Given the description of an element on the screen output the (x, y) to click on. 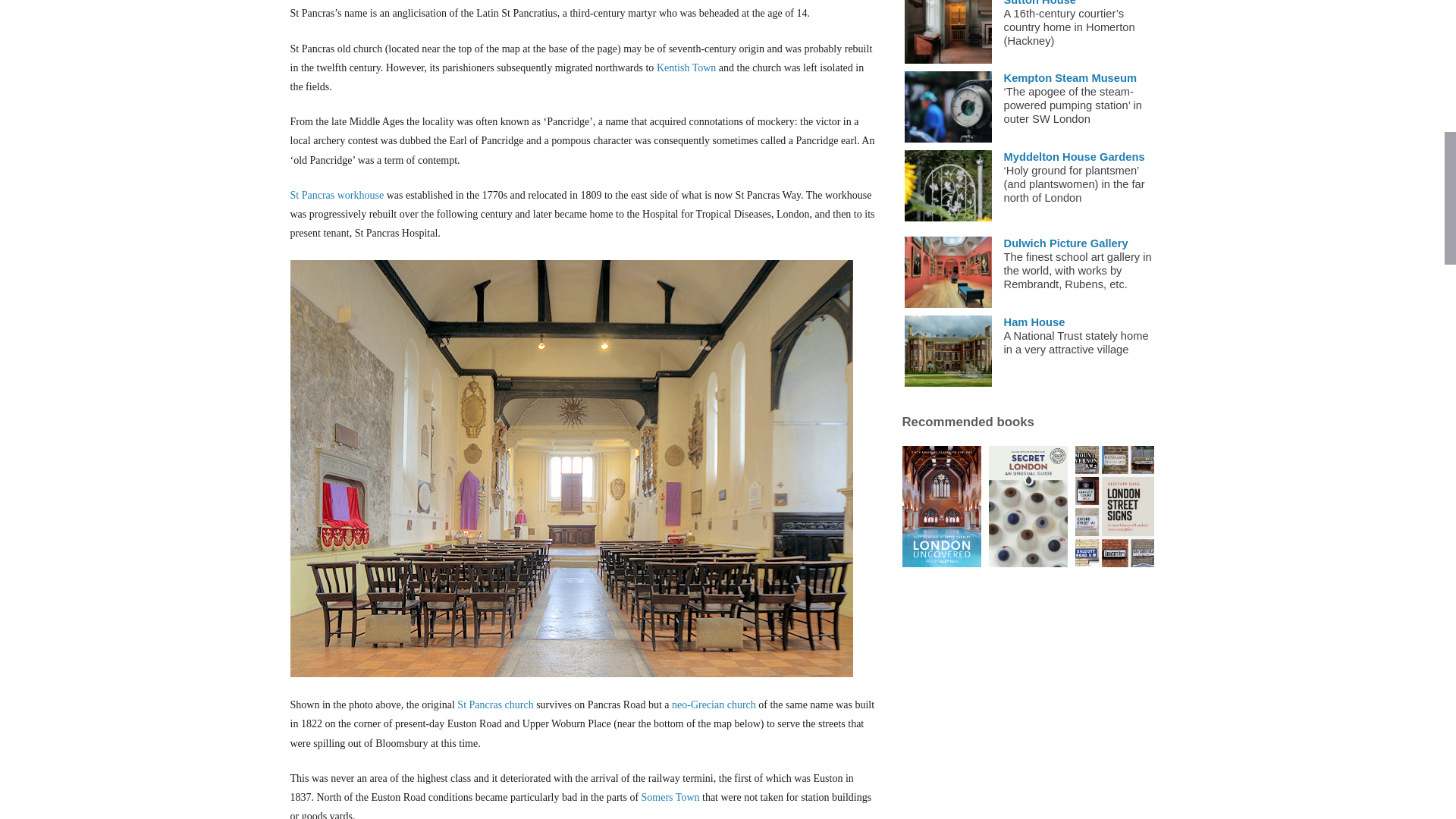
Kentish Town (686, 67)
St Pancras workhouse (336, 194)
Somers Town (671, 797)
St Pancras Old Church (494, 704)
neo-Grecian church (713, 704)
St Pancras church (494, 704)
Somers Town (671, 797)
Kentish Town (686, 67)
Sutton House (1039, 2)
St Pancras Church (713, 704)
St Pancras workhouse (336, 194)
